Given the description of an element on the screen output the (x, y) to click on. 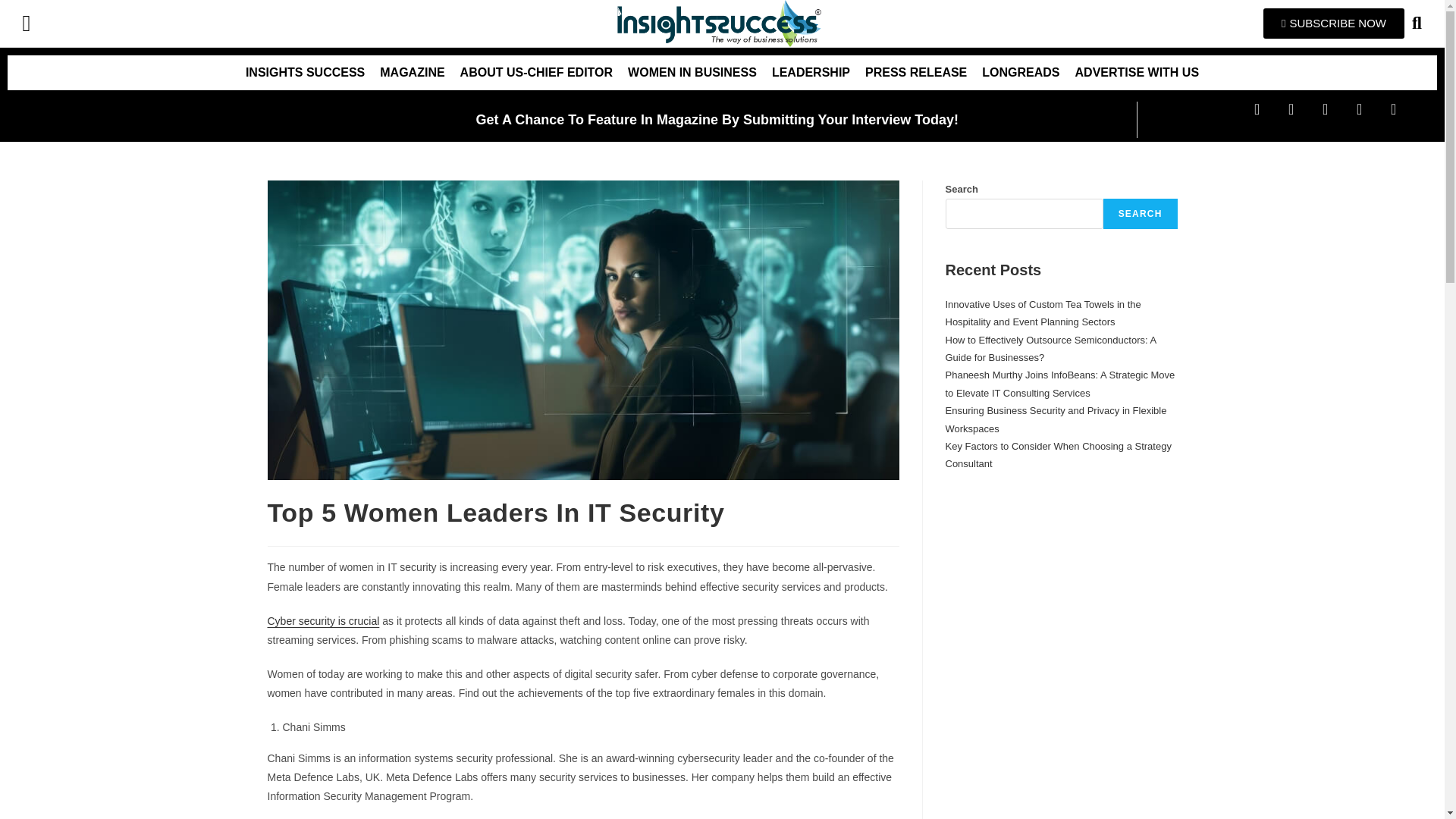
SEARCH (1140, 214)
WOMEN IN BUSINESS (692, 72)
LONGREADS (1020, 72)
Cyber security is crucial (322, 621)
ADVERTISE WITH US (1137, 72)
PRESS RELEASE (915, 72)
